Given the description of an element on the screen output the (x, y) to click on. 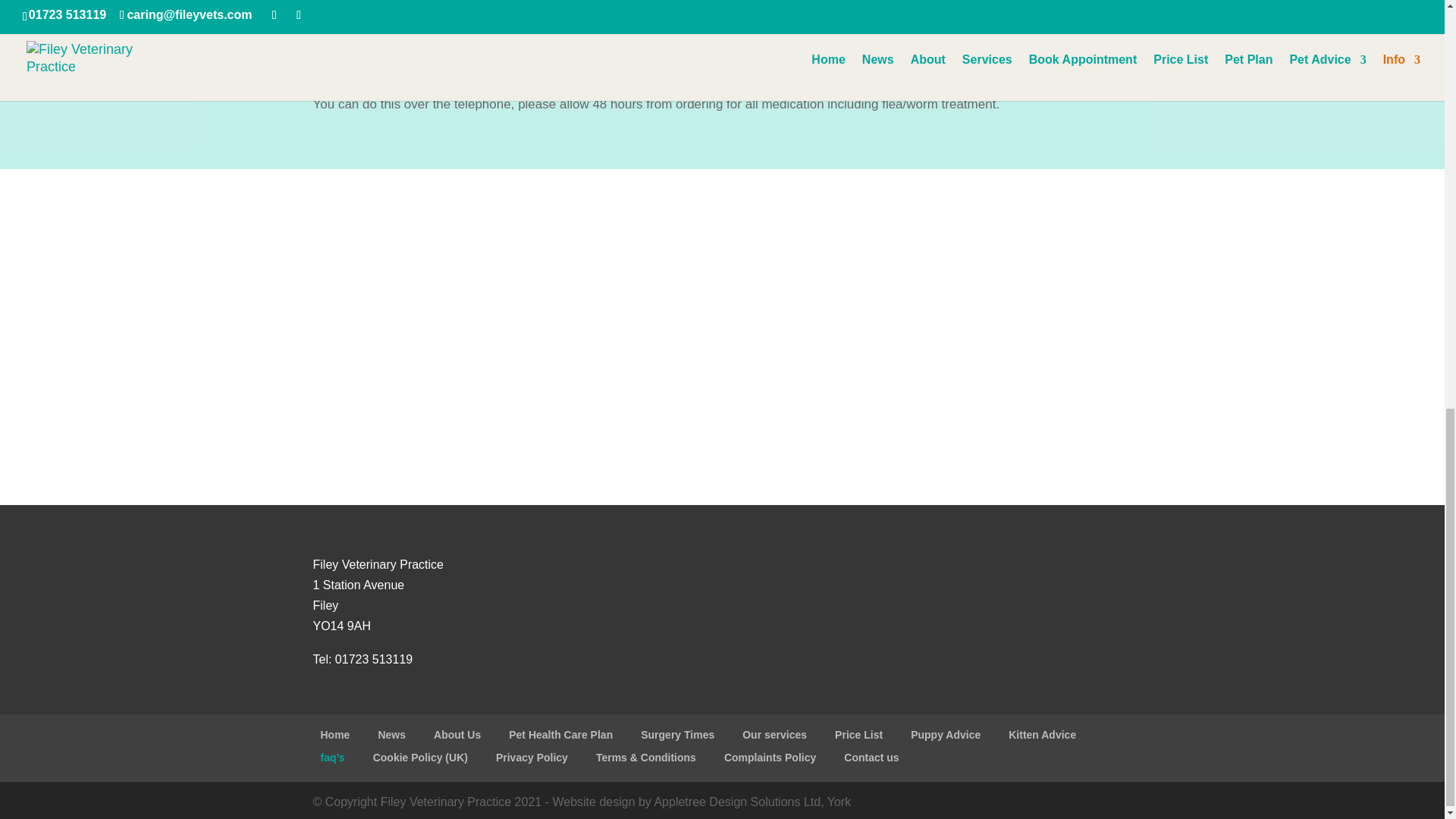
Pet Health Care Plan (560, 734)
News (391, 734)
About Us (456, 734)
Surgery Times (677, 734)
Home (334, 734)
Our services (774, 734)
Price List (858, 734)
